Given the description of an element on the screen output the (x, y) to click on. 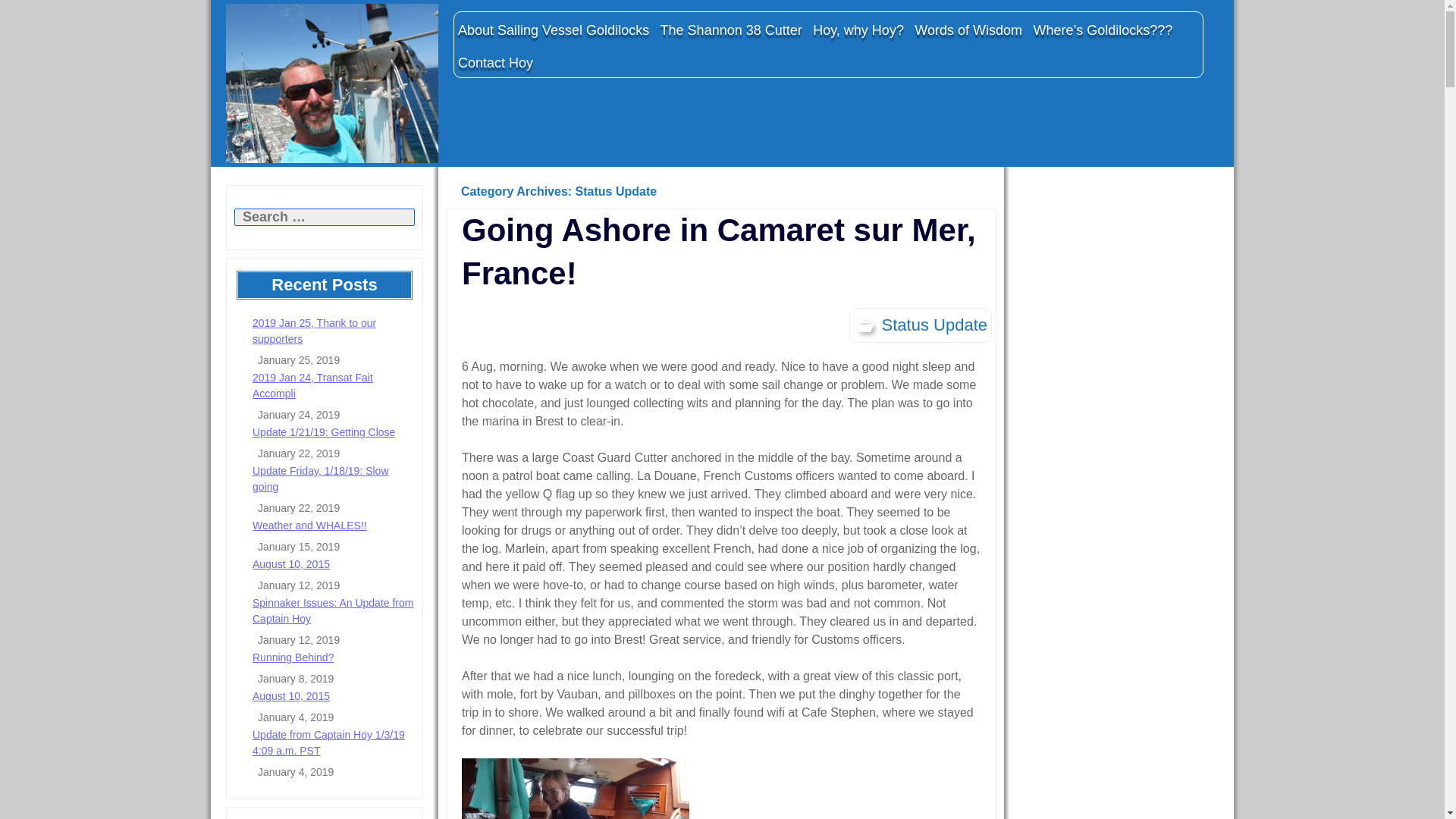
August 10, 2015 (290, 695)
Running Behind? (292, 657)
Words of Wisdom (968, 30)
2019 Jan 24, Transat Fait Accompli (311, 385)
2019 Jan 25, Thank to our supporters (313, 330)
Weather and WHALES!! (308, 525)
Hoy, why Hoy? (858, 30)
The Shannon 38 Cutter (731, 30)
August 10, 2015 (290, 563)
Spinnaker Issues: An Update from Captain Hoy (332, 610)
Contact Hoy (495, 62)
About Sailing Vessel Goldilocks (553, 30)
CaptainHoy.com (331, 83)
